Given the description of an element on the screen output the (x, y) to click on. 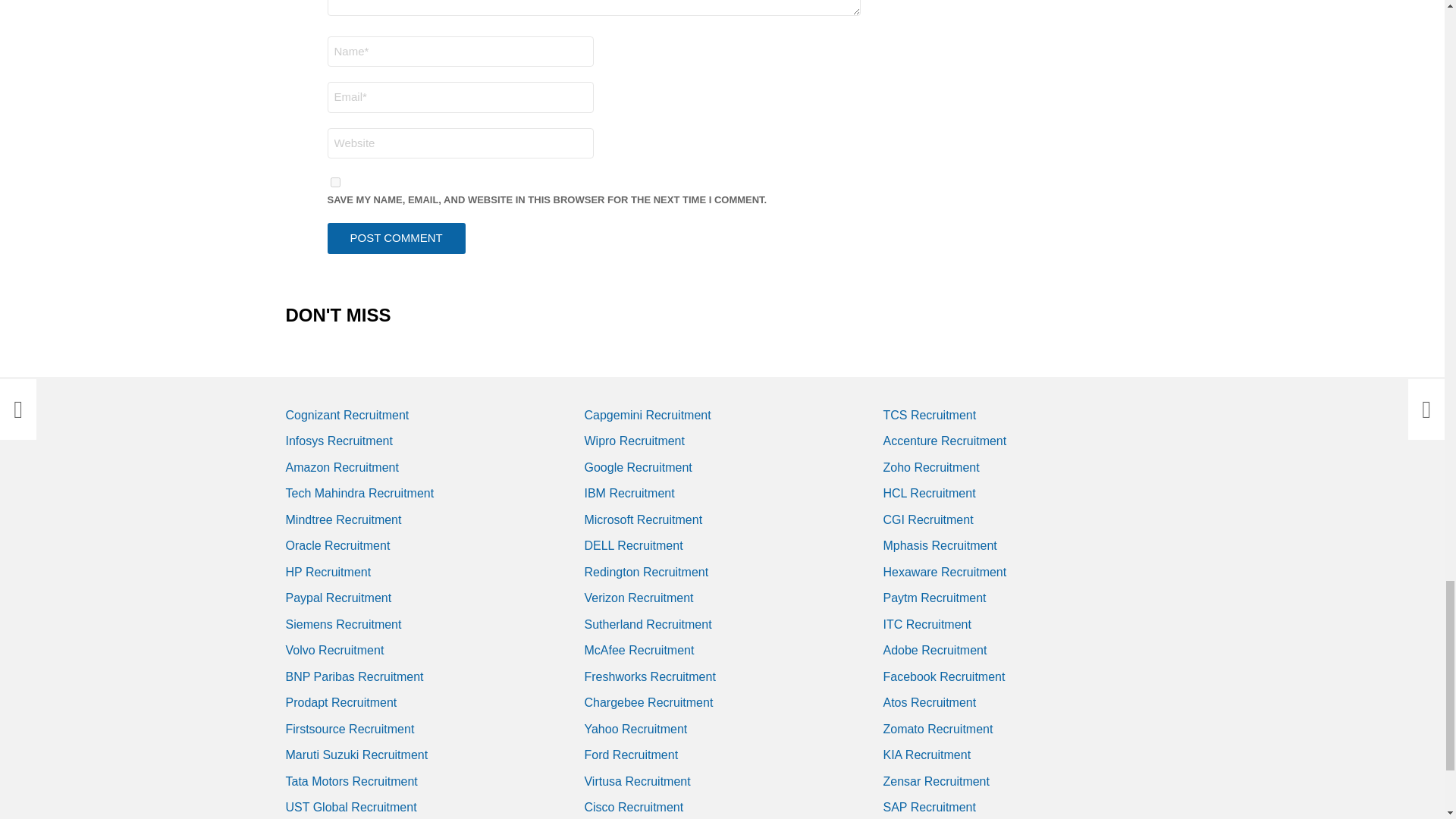
yes (335, 182)
Post Comment (396, 237)
